Given the description of an element on the screen output the (x, y) to click on. 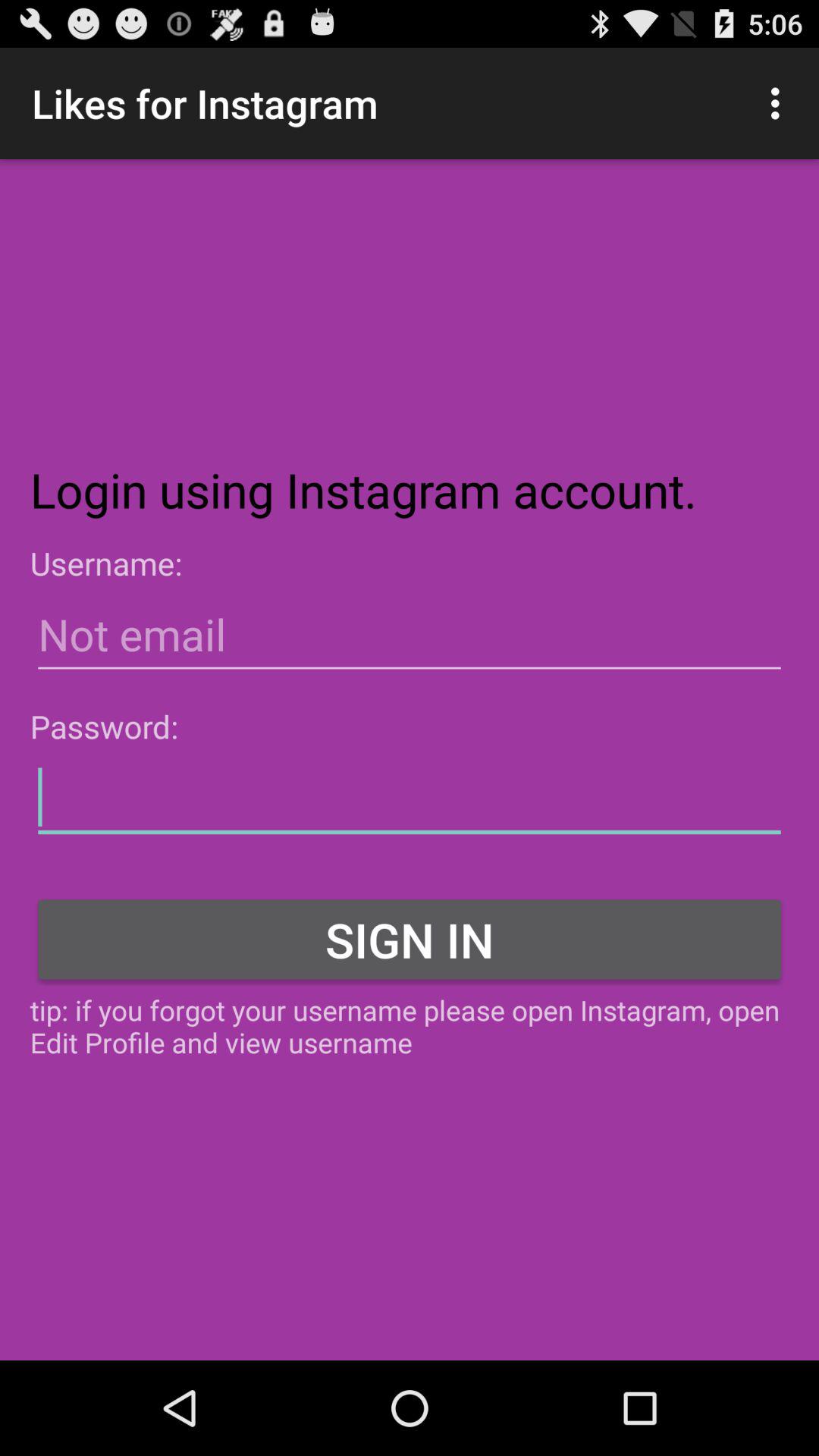
choose item above the login using instagram icon (779, 103)
